Given the description of an element on the screen output the (x, y) to click on. 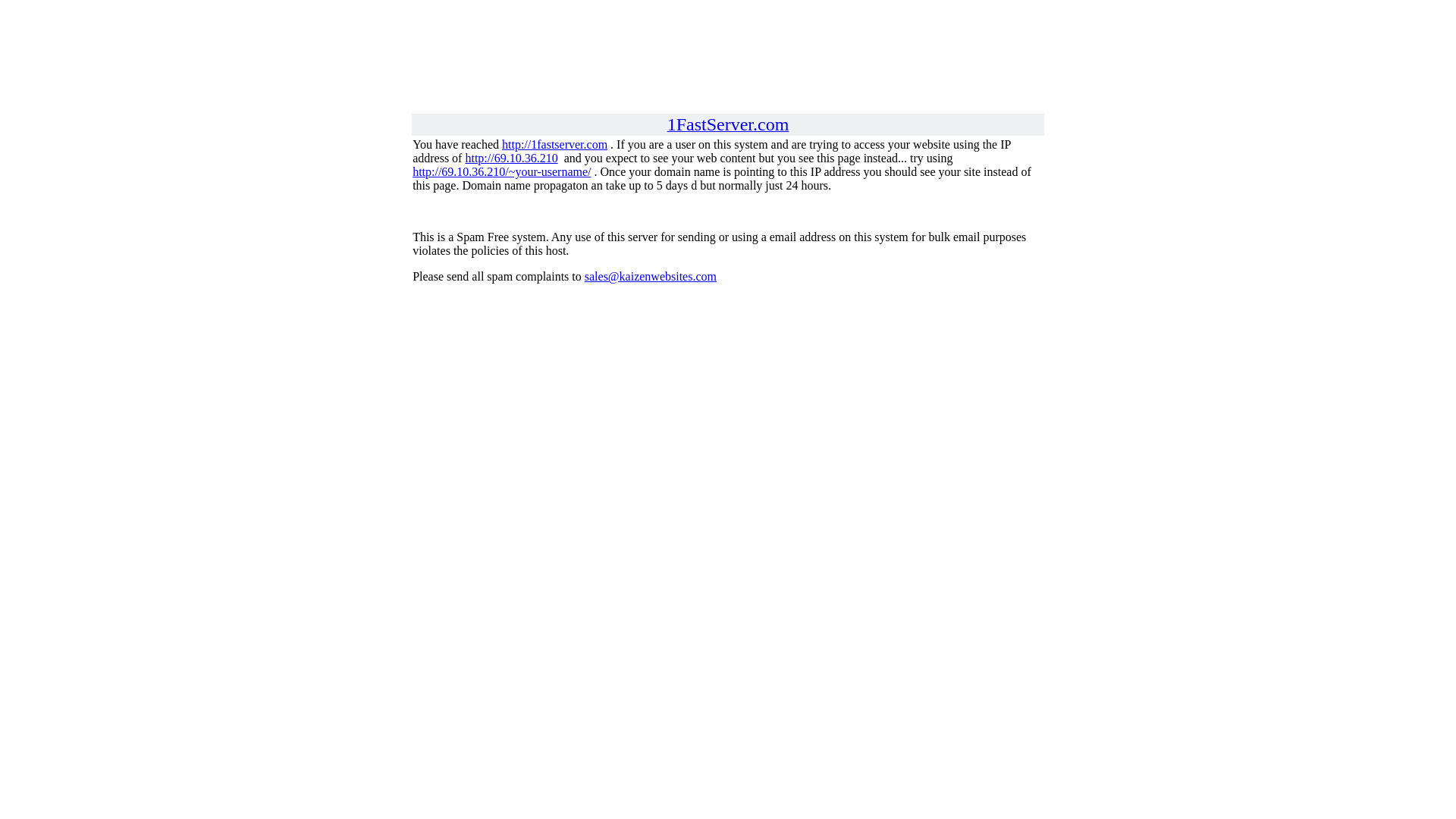
http://69.10.36.210/~your-username/ Element type: text (501, 171)
http://69.10.36.210 Element type: text (510, 157)
1FastServer.com Element type: text (728, 125)
http://1fastserver.com Element type: text (554, 144)
Advertisement Element type: hover (727, 40)
sales@kaizenwebsites.com Element type: text (650, 275)
